Given the description of an element on the screen output the (x, y) to click on. 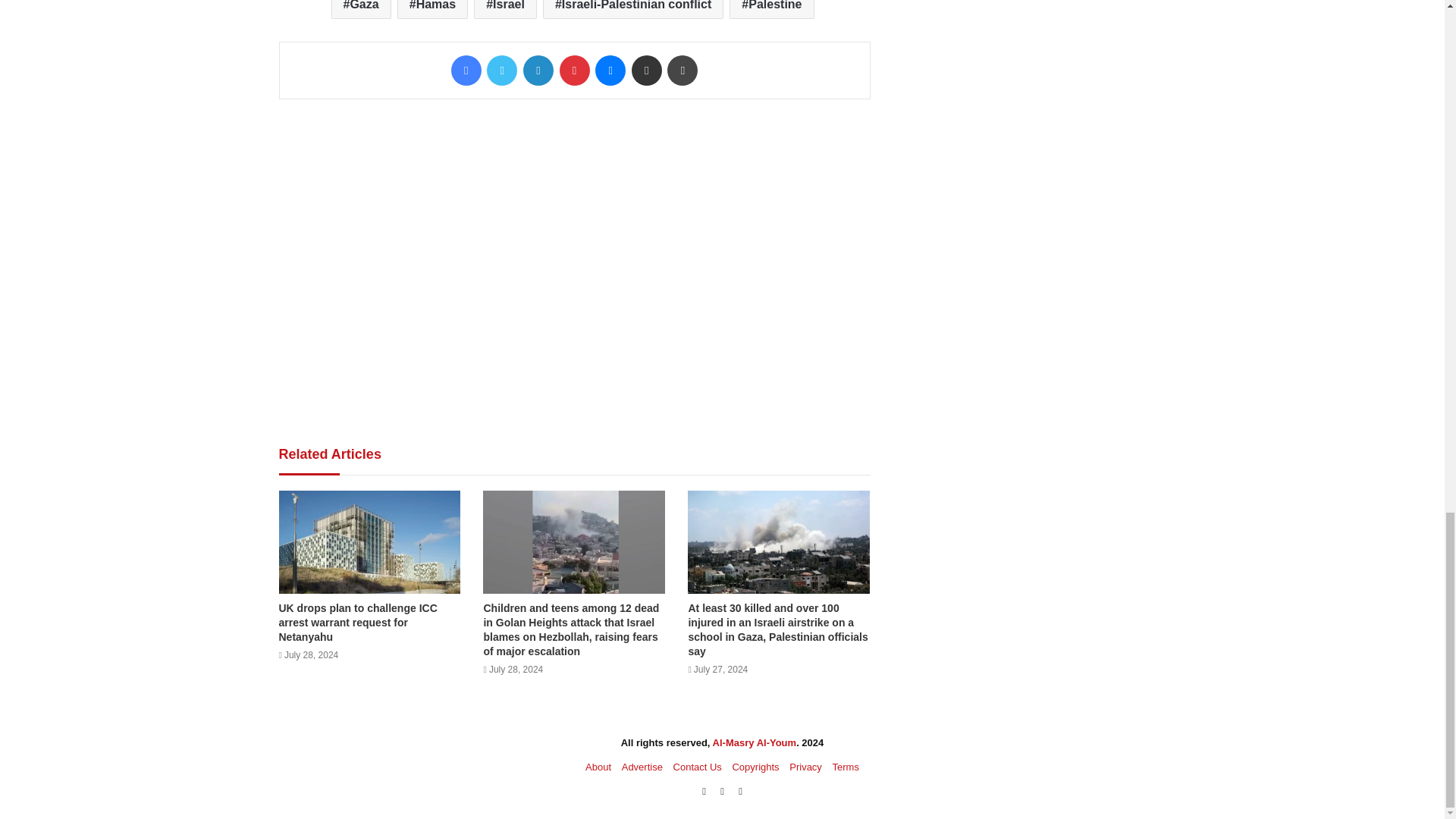
Share via Email (646, 70)
Facebook (466, 70)
Pinterest (574, 70)
Facebook (466, 70)
LinkedIn (537, 70)
Palestine (771, 9)
LinkedIn (537, 70)
Hamas (432, 9)
Messenger (610, 70)
Pinterest (574, 70)
Israeli-Palestinian conflict (633, 9)
Israel (505, 9)
Messenger (610, 70)
Twitter (501, 70)
Gaza (360, 9)
